Given the description of an element on the screen output the (x, y) to click on. 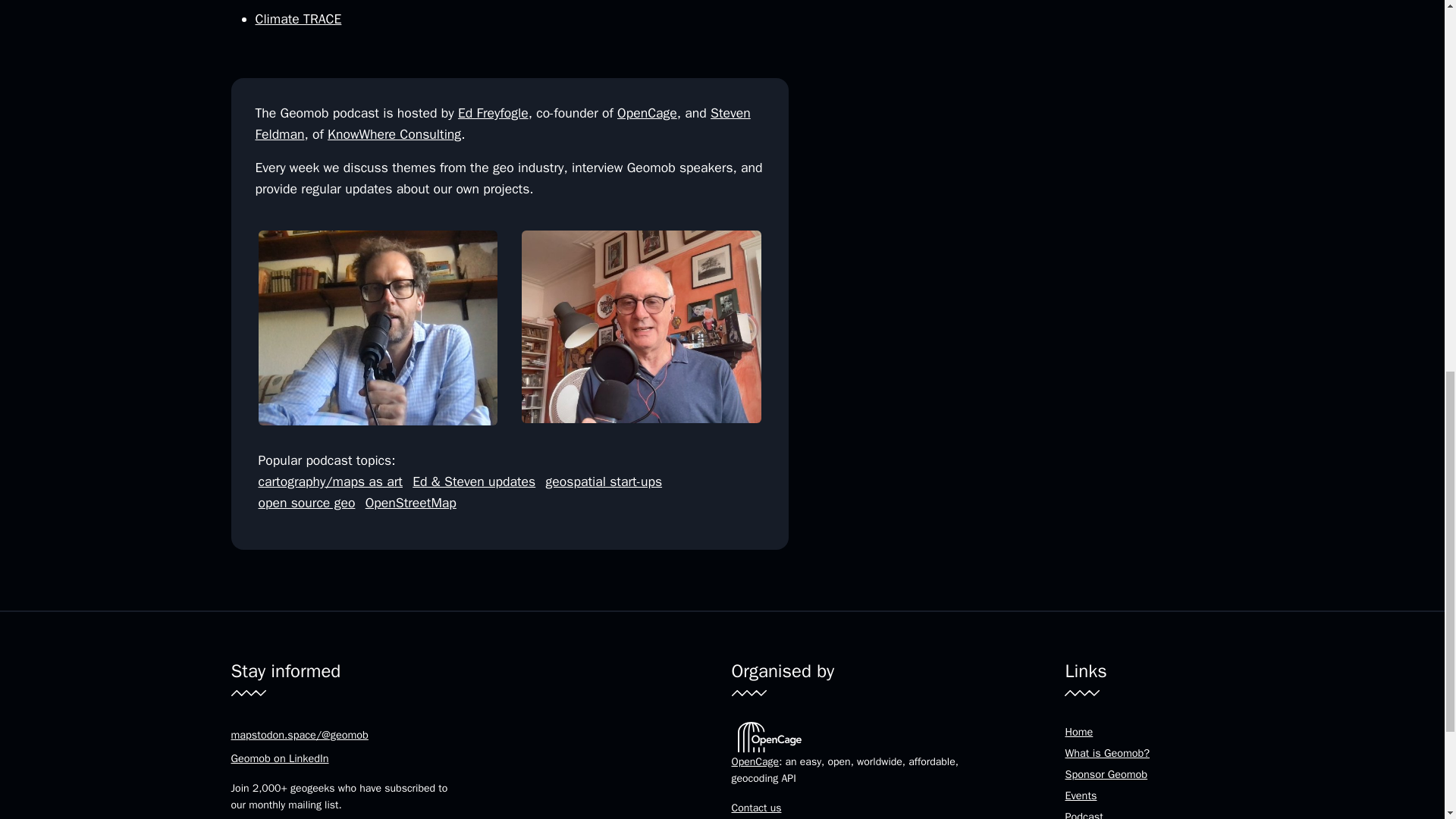
Climate TRACE (297, 18)
geospatial start-ups (604, 481)
KnowWhere Consulting (394, 134)
What is Geomob? (1107, 753)
OpenCage (754, 761)
Ed Freyfogle (493, 112)
open source geo (306, 502)
OpenCage (647, 112)
OpenStreetMap (411, 502)
Home (1078, 731)
Contact us (755, 807)
Geomob on LinkedIn (279, 757)
Steven Feldman (501, 123)
